Given the description of an element on the screen output the (x, y) to click on. 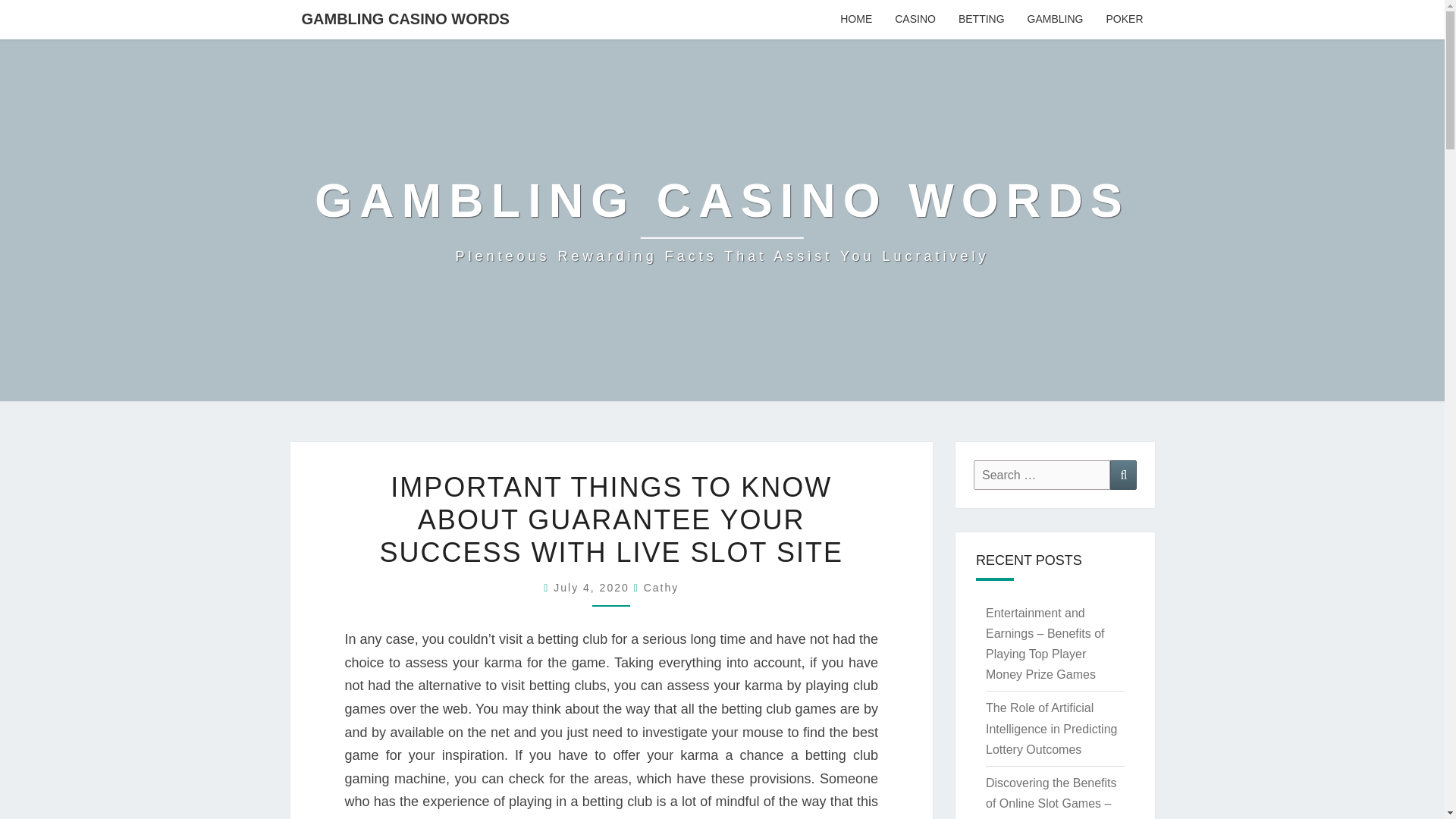
POKER (1124, 19)
BETTING (981, 19)
HOME (855, 19)
4:52 am (593, 587)
View all posts by Cathy (661, 587)
Cathy (661, 587)
Search (1123, 474)
GAMBLING (1055, 19)
CASINO (915, 19)
July 4, 2020 (593, 587)
Search for: (1041, 474)
GAMBLING CASINO WORDS (404, 18)
Gambling casino words (721, 219)
